Given the description of an element on the screen output the (x, y) to click on. 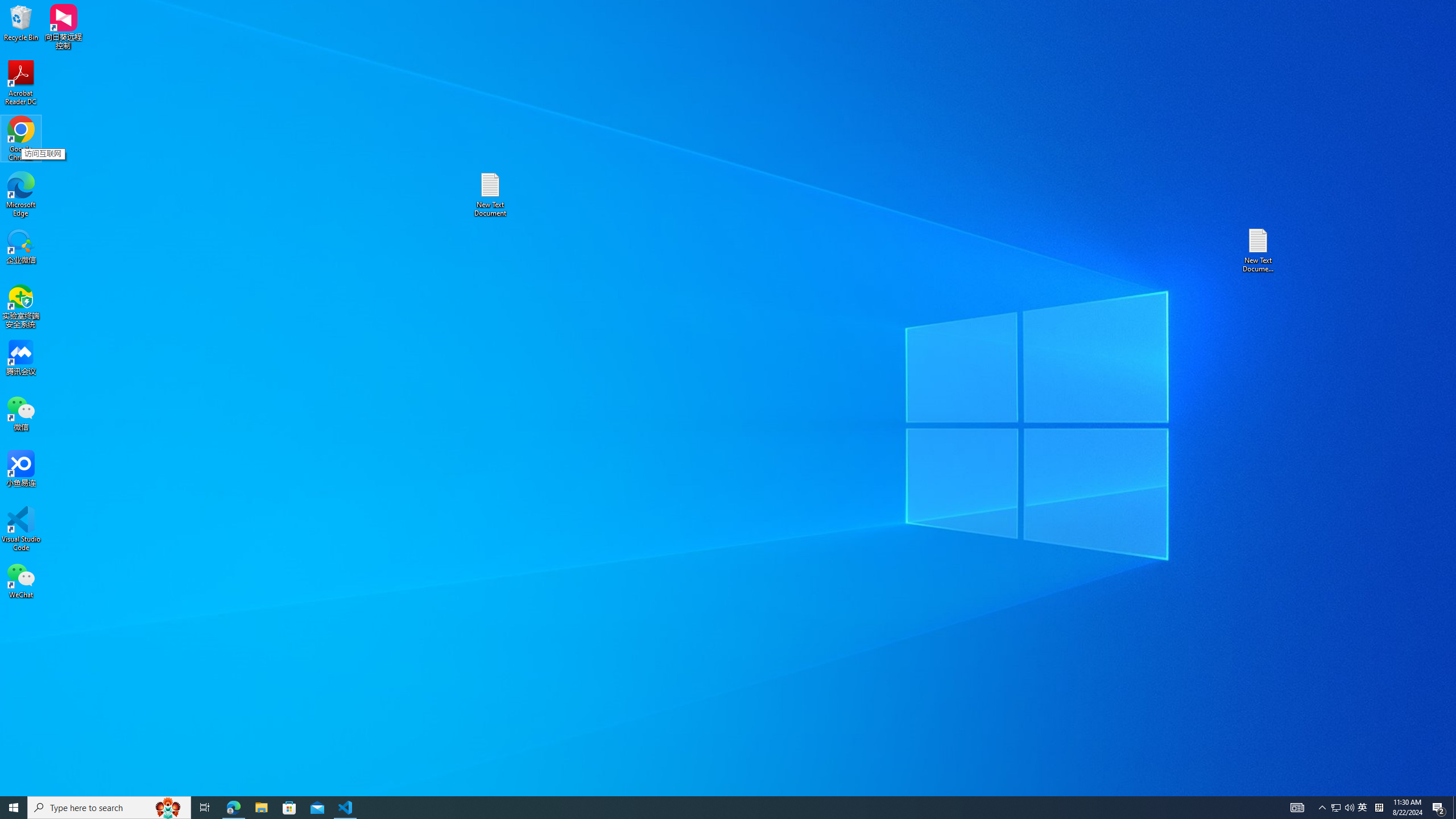
Acrobat Reader DC (21, 82)
Microsoft Edge - 1 running window (233, 807)
Tray Input Indicator - Chinese (Simplified, China) (1378, 807)
Running applications (707, 807)
AutomationID: 4105 (1297, 807)
Start (13, 807)
Visual Studio Code (21, 528)
Task View (204, 807)
Microsoft Edge (21, 194)
New Text Document (489, 194)
WeChat (21, 580)
User Promoted Notification Area (1342, 807)
